Given the description of an element on the screen output the (x, y) to click on. 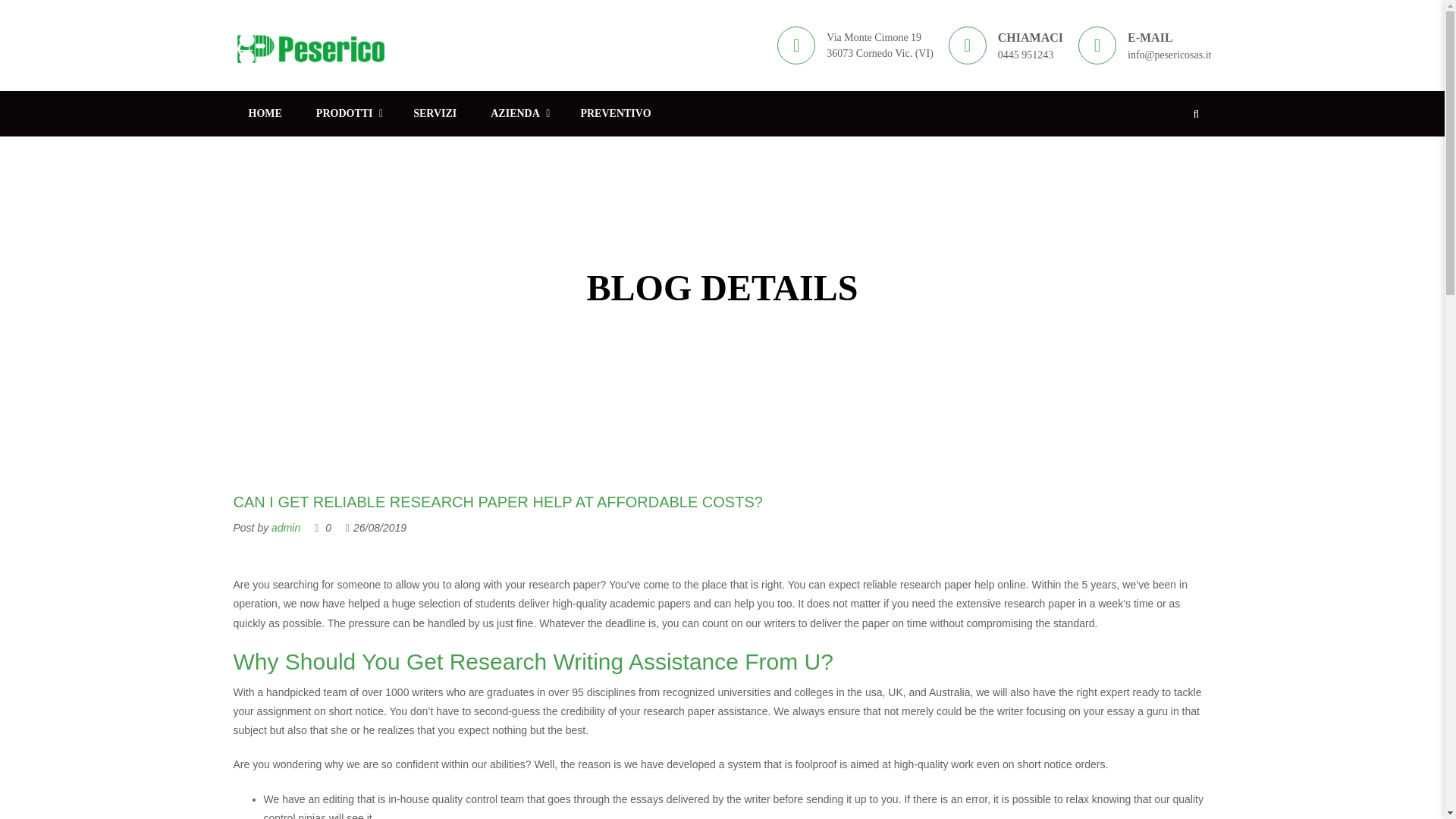
Peserico s.a.s. - L'esperto del legno (309, 44)
